Given the description of an element on the screen output the (x, y) to click on. 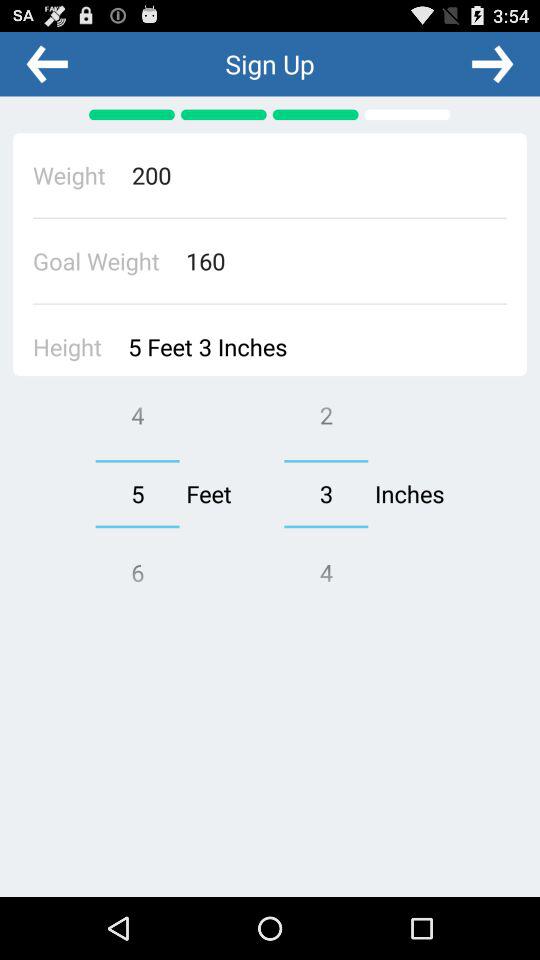
go to the next page (492, 63)
